Given the description of an element on the screen output the (x, y) to click on. 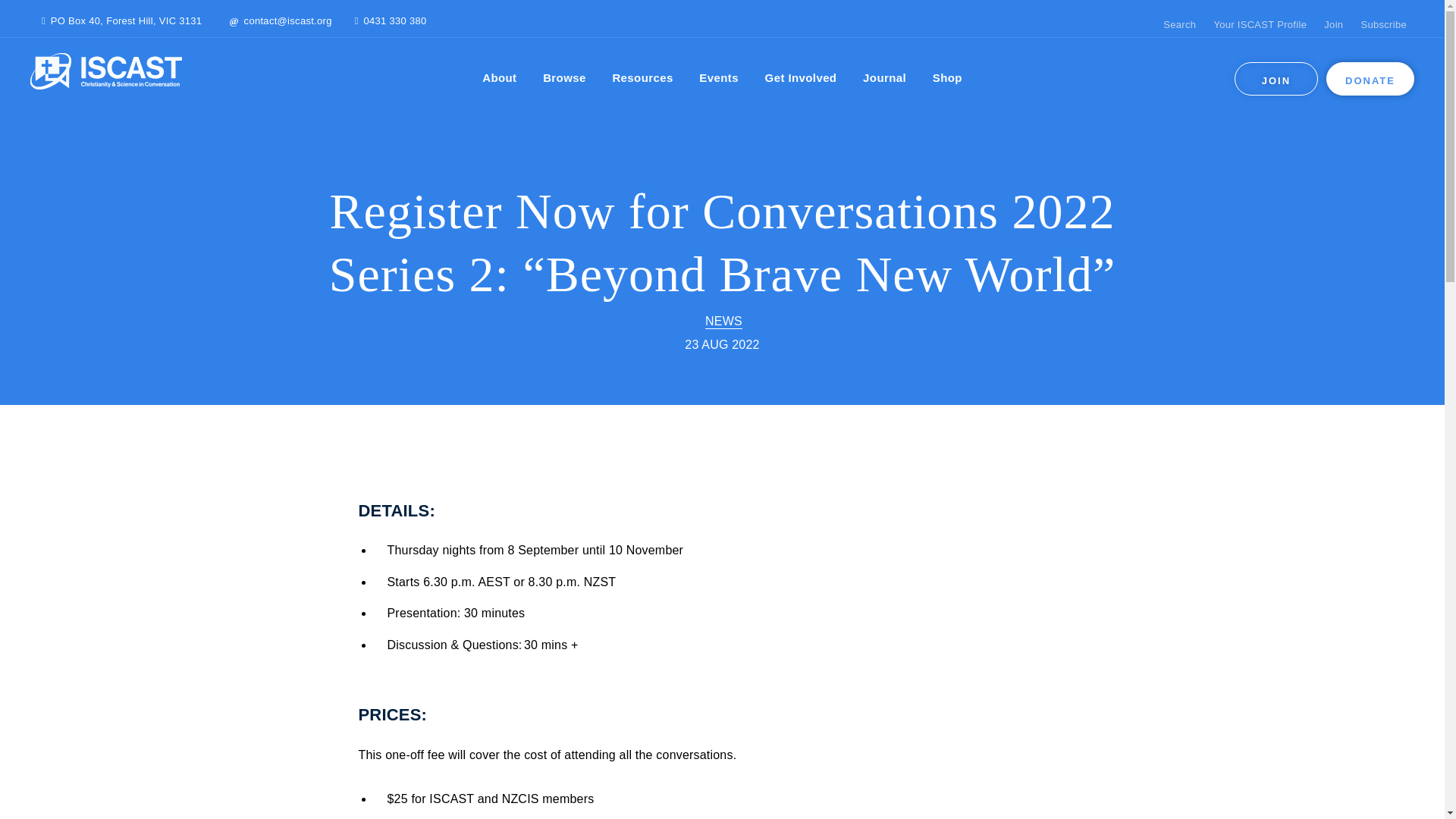
Join (1332, 24)
Resources (641, 78)
Your ISCAST Profile (1259, 24)
Browse (564, 78)
PO Box 40, Forest Hill, VIC 3131 (126, 21)
0431 330 380 (395, 21)
Search (1179, 24)
About (498, 78)
Events (718, 78)
Subscribe (1382, 24)
